Given the description of an element on the screen output the (x, y) to click on. 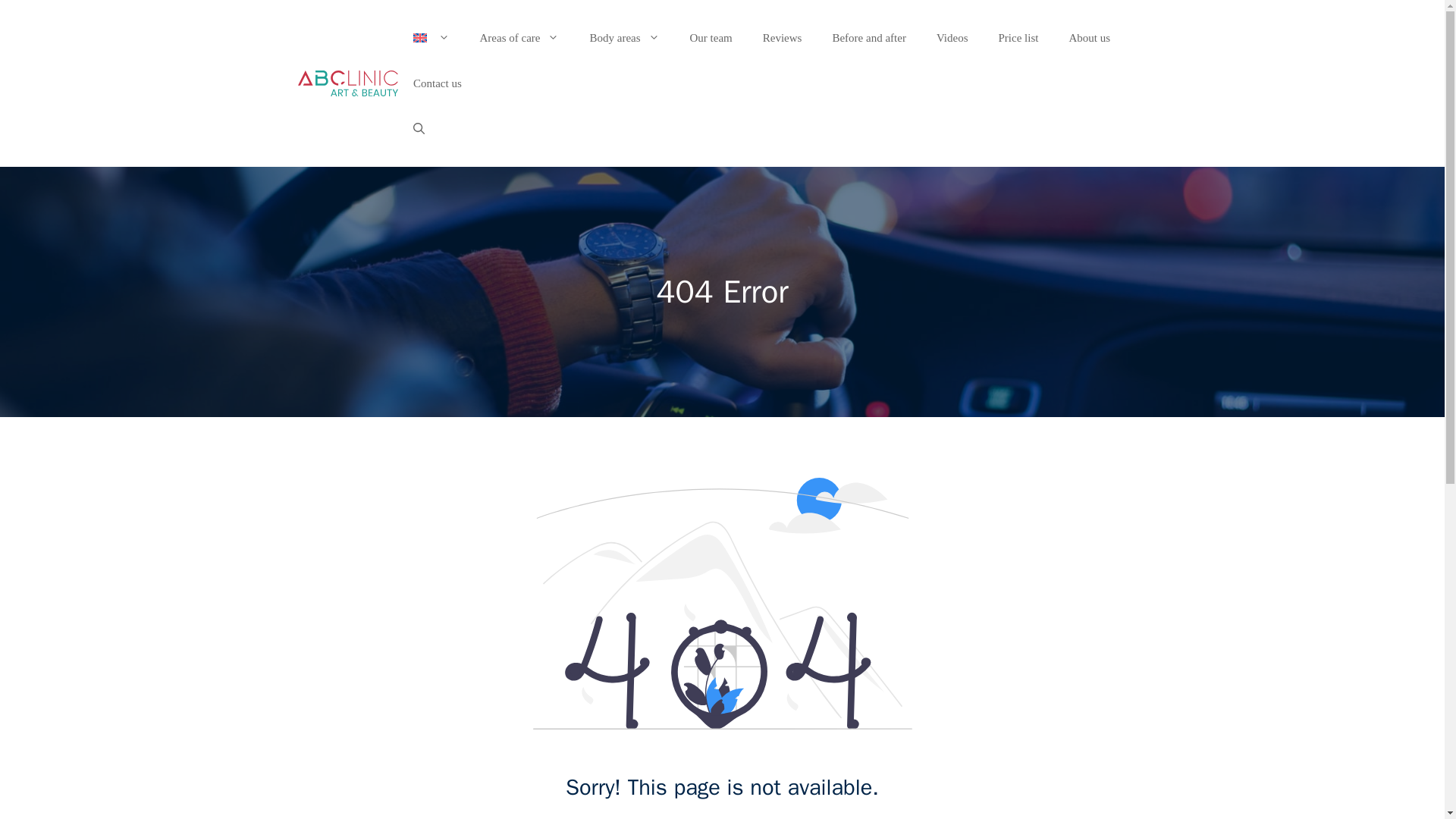
Areas of care (519, 37)
About us (1088, 37)
Body areas (623, 37)
Our team (711, 37)
Before and after (868, 37)
Videos (952, 37)
Reviews (782, 37)
Price list (1017, 37)
Contact us (437, 83)
